Given the description of an element on the screen output the (x, y) to click on. 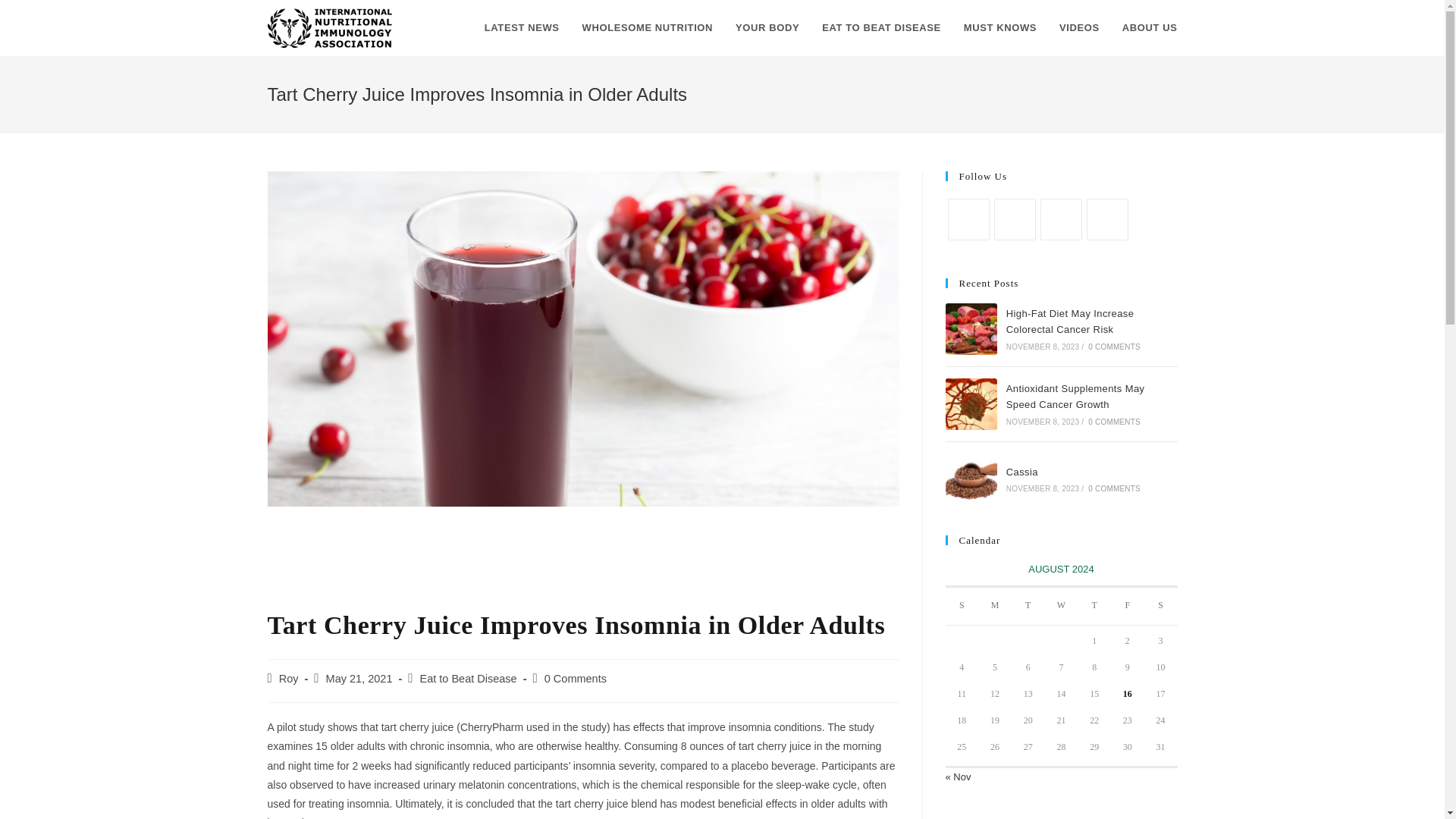
Sunday (961, 606)
LATEST NEWS (521, 28)
Antioxidant Supplements May Speed Cancer Growth (969, 403)
Eat to Beat Disease (468, 678)
High-Fat Diet May Increase Colorectal Cancer Risk (969, 328)
Roy (288, 678)
EAT TO BEAT DISEASE (881, 28)
Monday (994, 606)
Friday (1127, 606)
Wednesday (1061, 606)
